Given the description of an element on the screen output the (x, y) to click on. 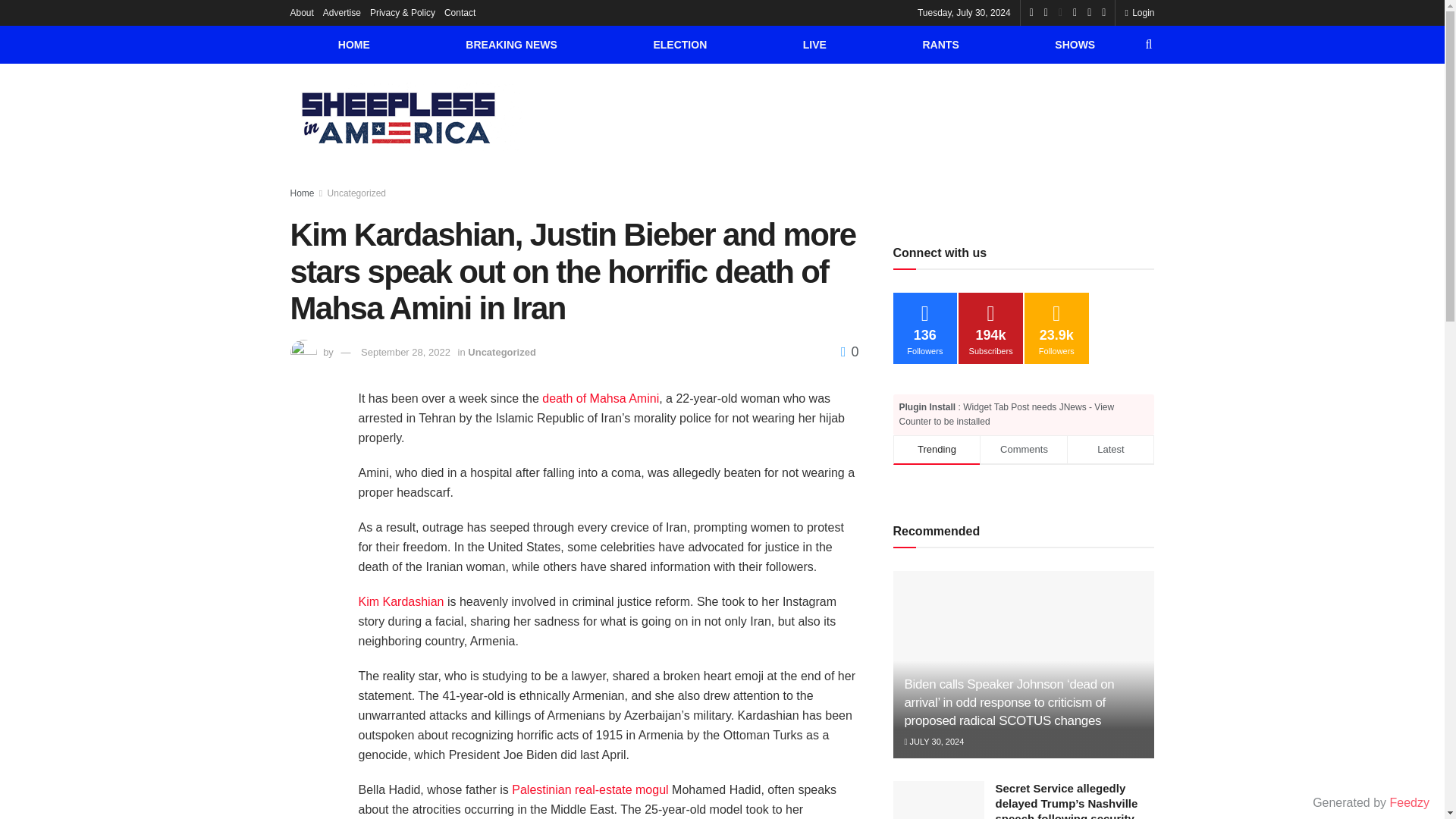
HOME (353, 44)
Kim Kardashian (401, 601)
About (301, 12)
Contact (460, 12)
Uncategorized (356, 193)
September 28, 2022 (405, 351)
Advertise (342, 12)
Login (1139, 12)
death of Mahsa Amini (600, 398)
ELECTION (679, 44)
RANTS (941, 44)
0 (850, 351)
Uncategorized (501, 351)
BREAKING NEWS (511, 44)
Home (301, 193)
